Given the description of an element on the screen output the (x, y) to click on. 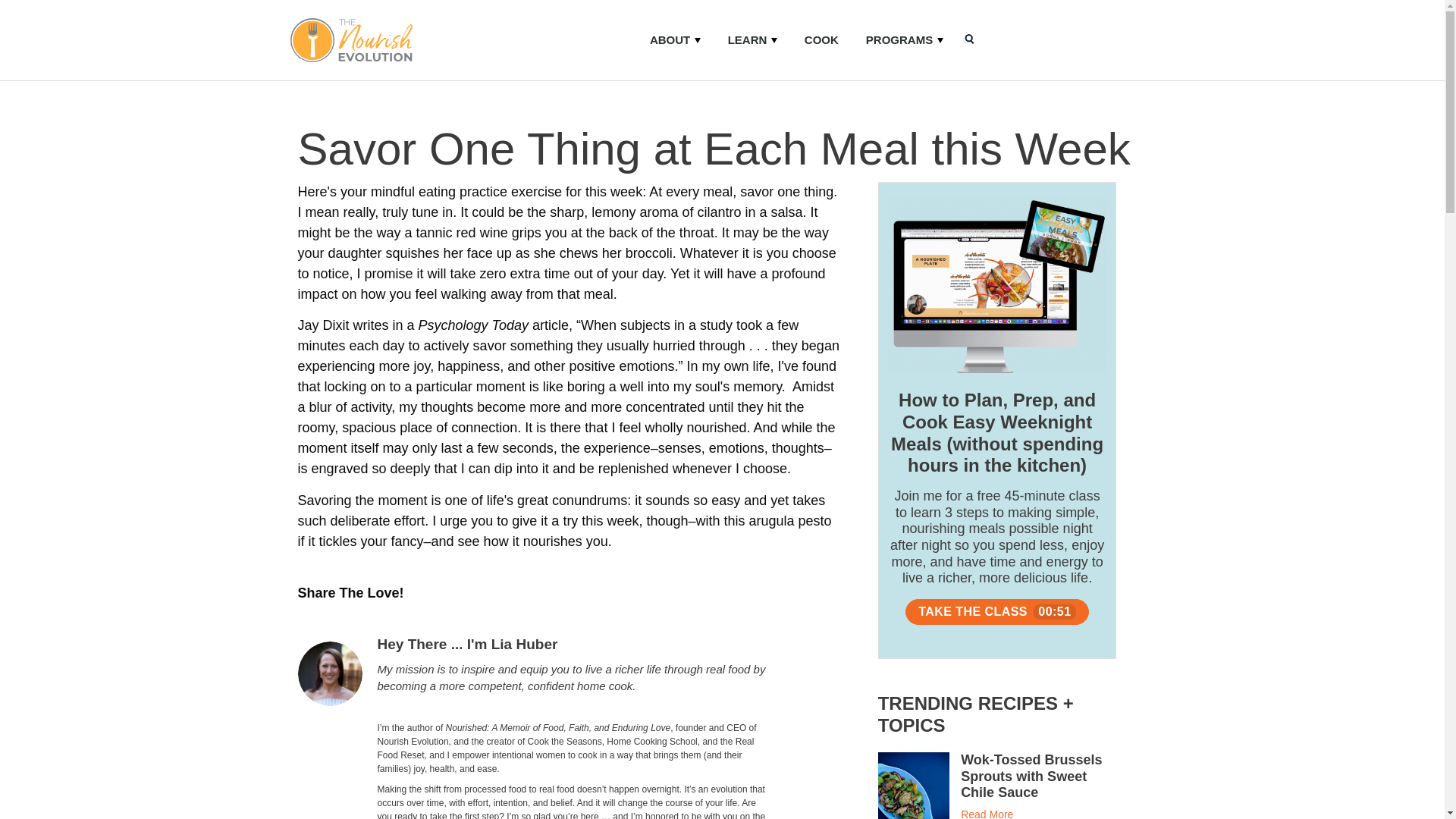
ABOUT (675, 40)
COOK (820, 40)
PROGRAMS (903, 40)
LEARN (752, 40)
